Given the description of an element on the screen output the (x, y) to click on. 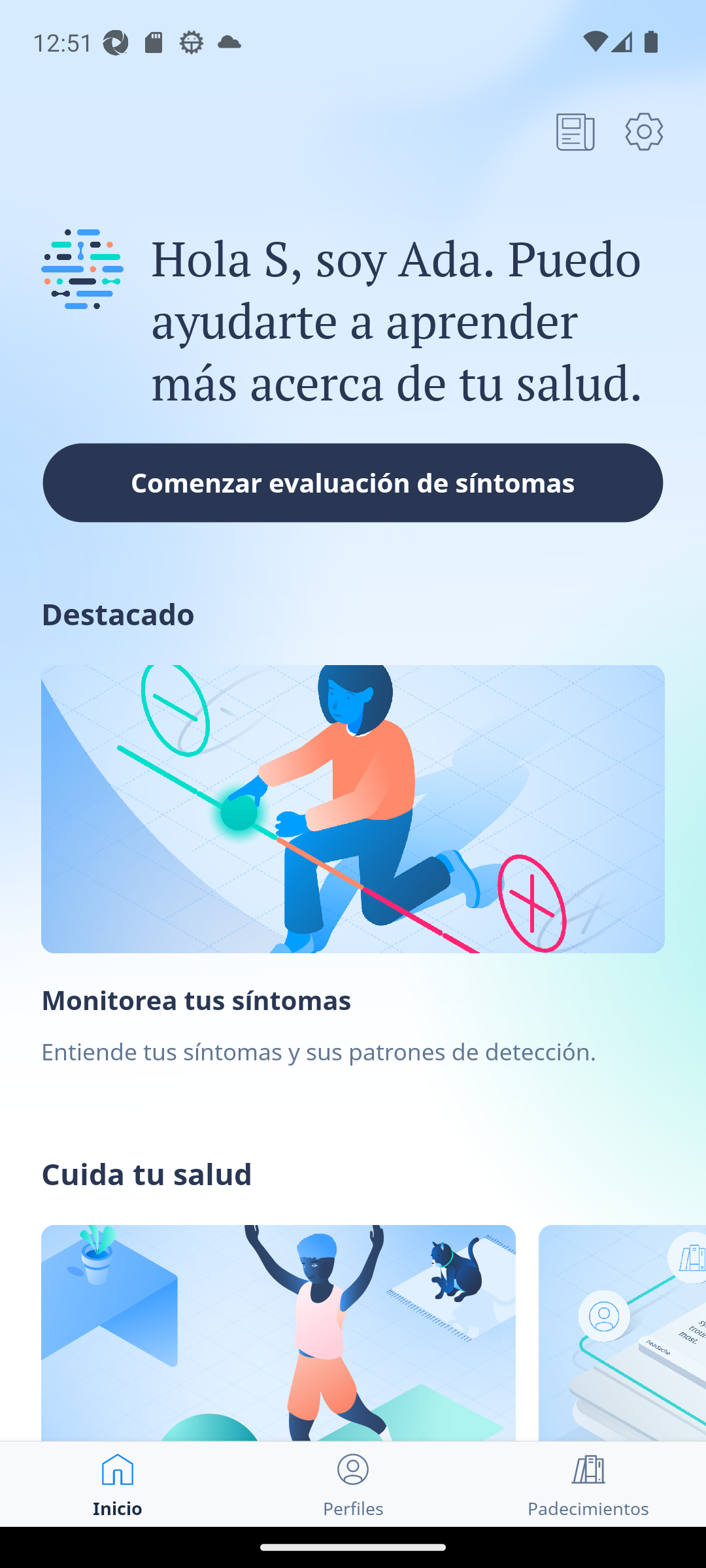
article icon , open articles (574, 131)
settings icon, open settings (644, 131)
Comenzar evaluación de síntomas (352, 482)
Inicio (117, 1484)
Perfiles (352, 1484)
Padecimientos (588, 1484)
